Given the description of an element on the screen output the (x, y) to click on. 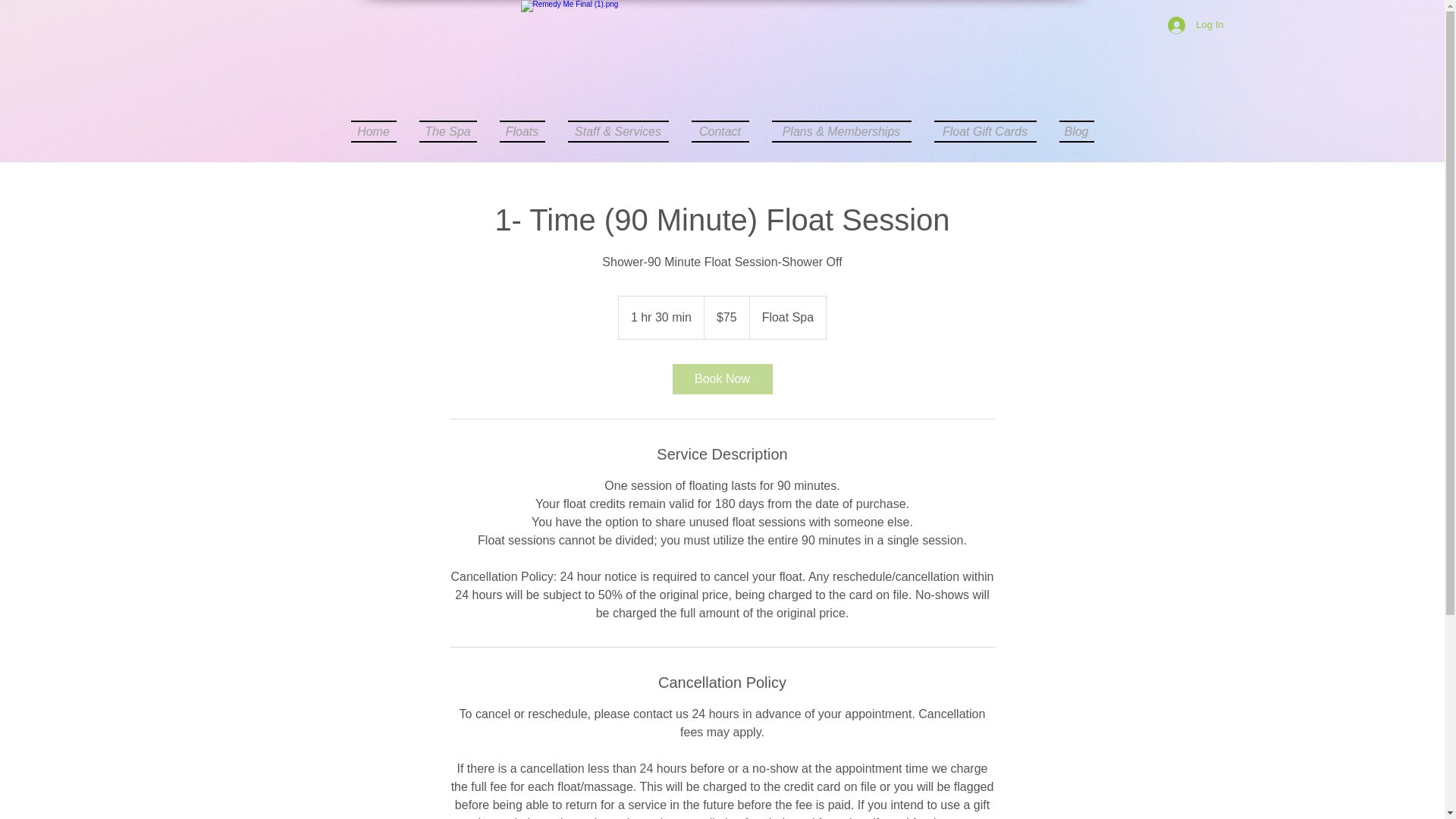
Floats (521, 131)
Contact (719, 131)
Home (378, 131)
Log In (1195, 25)
Float Gift Cards (983, 131)
The Spa (447, 131)
Book Now (721, 378)
Blog (1071, 131)
